Given the description of an element on the screen output the (x, y) to click on. 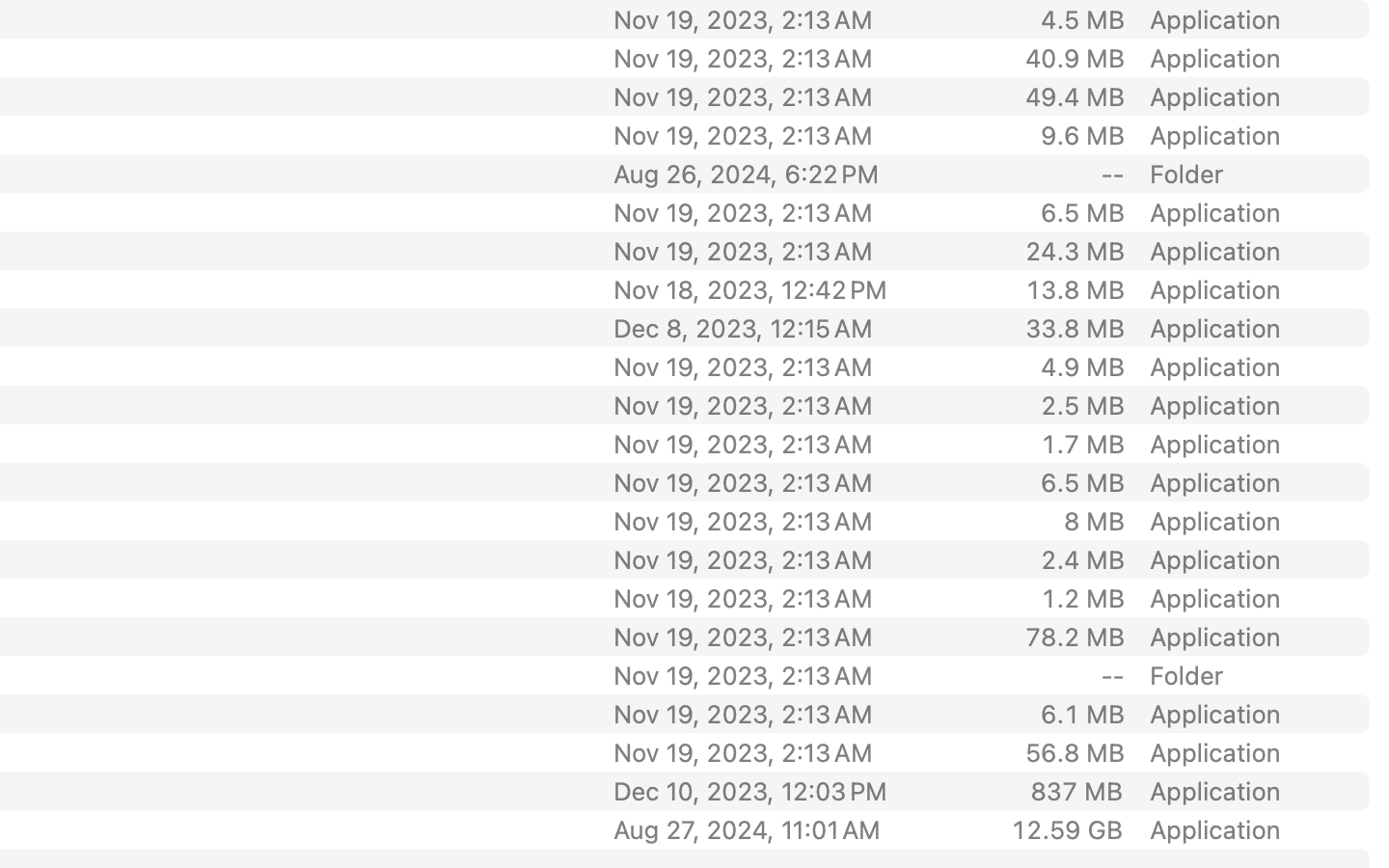
6.1 MB Element type: AXStaticText (1081, 713)
Aug 26, 2024, 6:22 PM Element type: AXStaticText (774, 173)
49.4 MB Element type: AXStaticText (1074, 96)
Application Element type: AXStaticText (1218, 134)
1.7 MB Element type: AXStaticText (1081, 443)
